Given the description of an element on the screen output the (x, y) to click on. 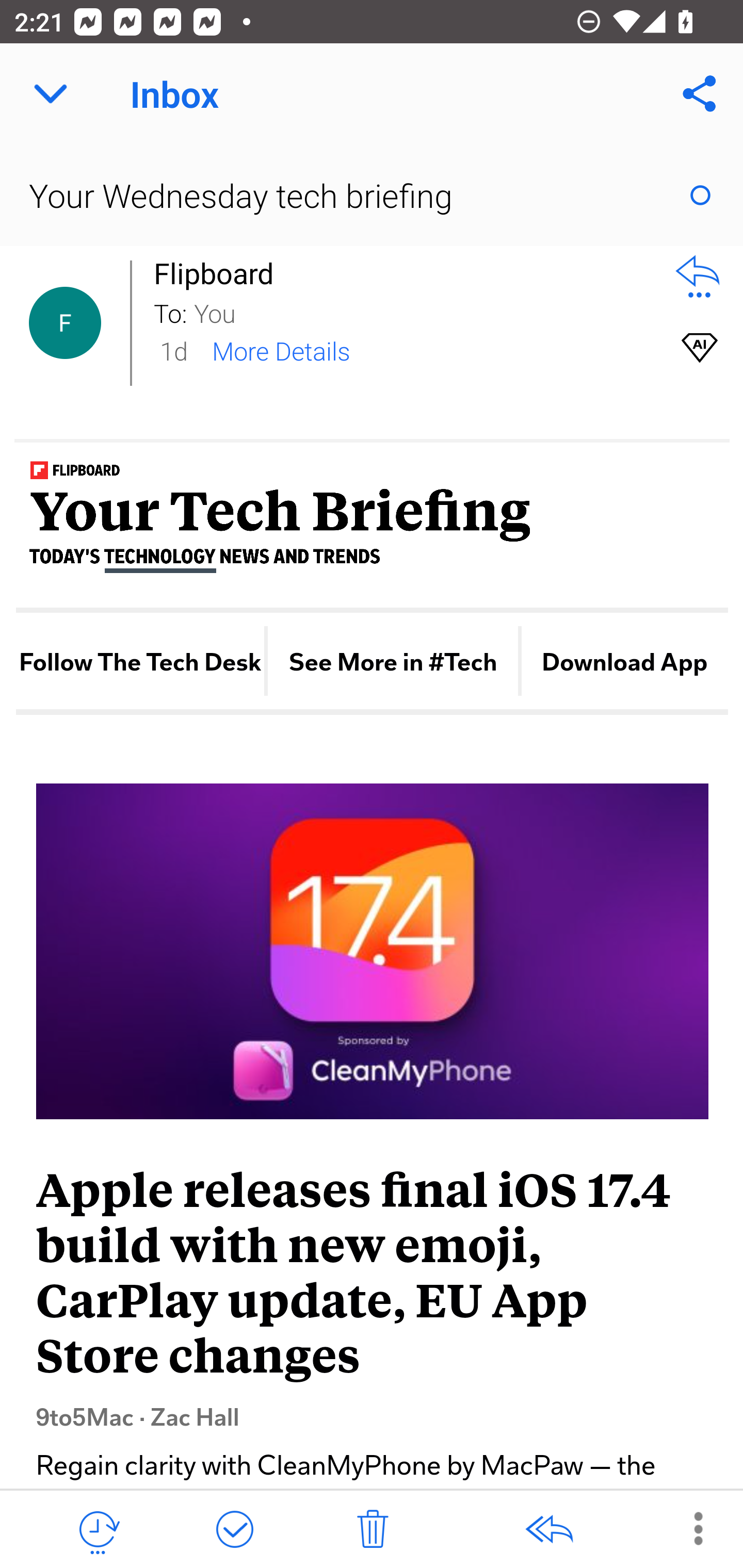
Navigate up (50, 93)
Share (699, 93)
Mark as Read (699, 194)
Flipboard (219, 273)
Contact Details (64, 322)
You (422, 311)
More Details (280, 349)
Follow The Tech Desk Follow  The Tech Desk (139, 662)
See More in #Tech (392, 662)
Download App (625, 662)
More Options (687, 1528)
Snooze (97, 1529)
Mark as Done (234, 1529)
Delete (372, 1529)
Reply All (548, 1529)
